Given the description of an element on the screen output the (x, y) to click on. 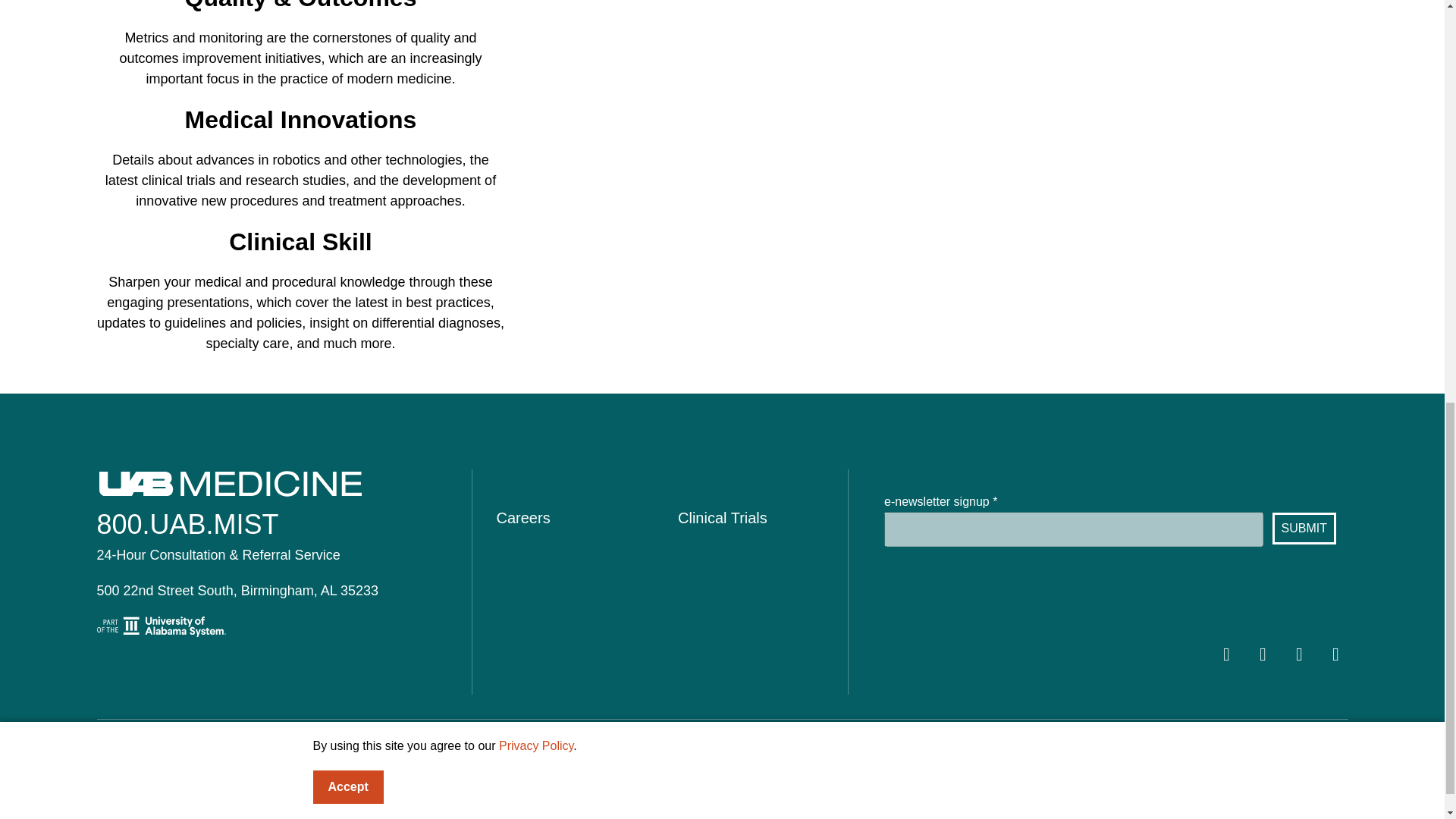
Patient Privacy (547, 750)
Twitter (1262, 654)
800.UAB.MIST (188, 523)
Sources (742, 750)
Notice of Nondiscrimination (405, 750)
YouTube (1299, 654)
Health Podcast Player (940, 32)
Privacy Policy (654, 750)
Facebook (1226, 654)
Careers (523, 517)
Community Health Needs Assessment (200, 750)
Clinical Trials (722, 517)
Instagram (1335, 654)
